Given the description of an element on the screen output the (x, y) to click on. 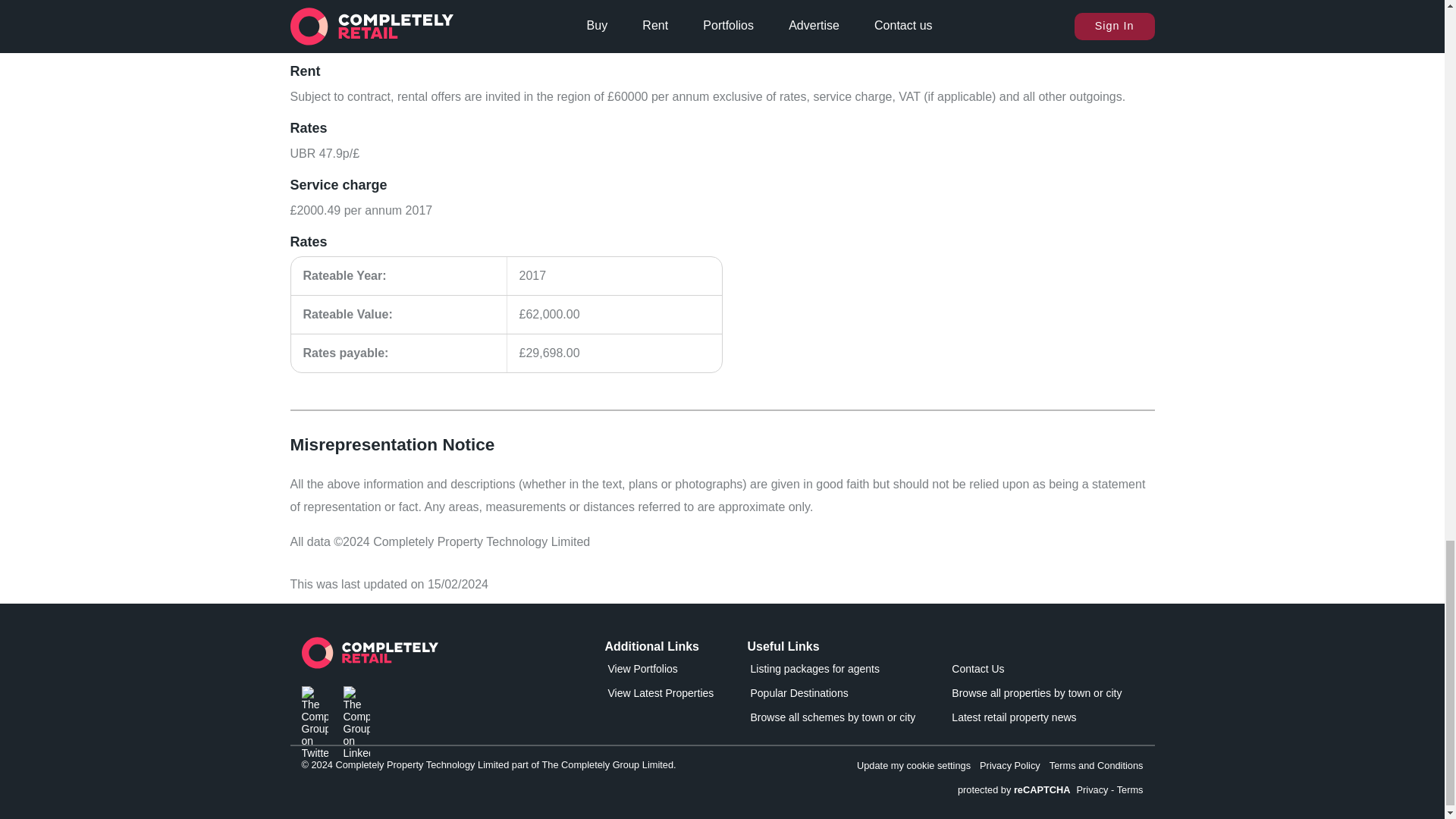
Latest retail property news (1036, 720)
Browse all schemes by town or city (833, 720)
Contact Us (1036, 671)
Browse all properties by town or city (1036, 696)
Contact Us (1036, 671)
View Portfolios (673, 671)
View Latest Properties (673, 696)
Browse all schemes by town or city (833, 720)
Popular Destinations (833, 696)
Latest retail property news (1036, 720)
